Given the description of an element on the screen output the (x, y) to click on. 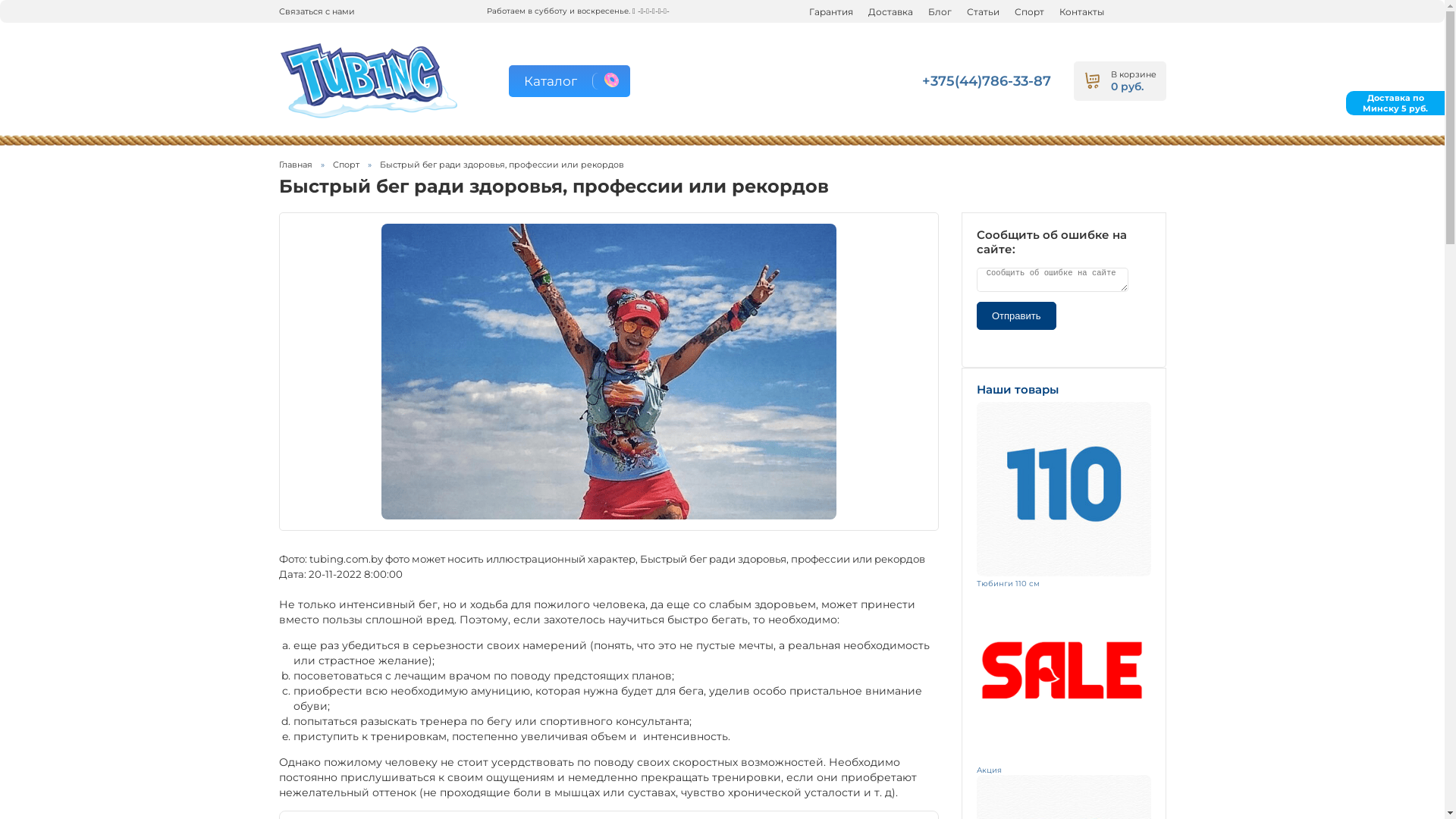
+375(44)786-33-87 Element type: text (986, 80)
Tubing Element type: hover (370, 81)
